Given the description of an element on the screen output the (x, y) to click on. 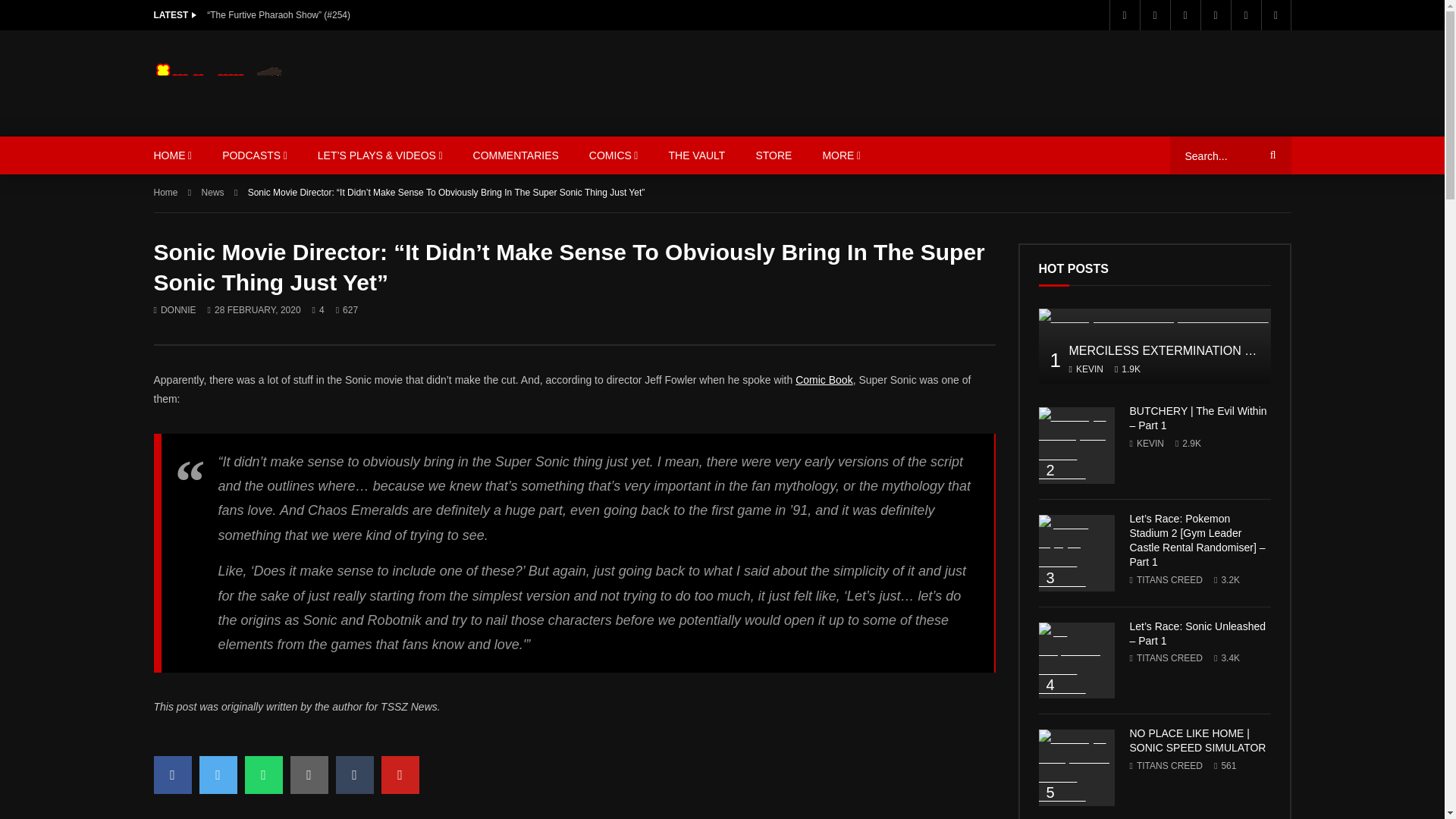
Twitch (1275, 15)
PODCASTS (254, 155)
Instagram (1214, 15)
Youtube (1184, 15)
Last Minute Continue (262, 82)
Discord (1245, 15)
Twitter (1153, 15)
HOME (172, 155)
Facebook (1123, 15)
Search (1270, 155)
